Given the description of an element on the screen output the (x, y) to click on. 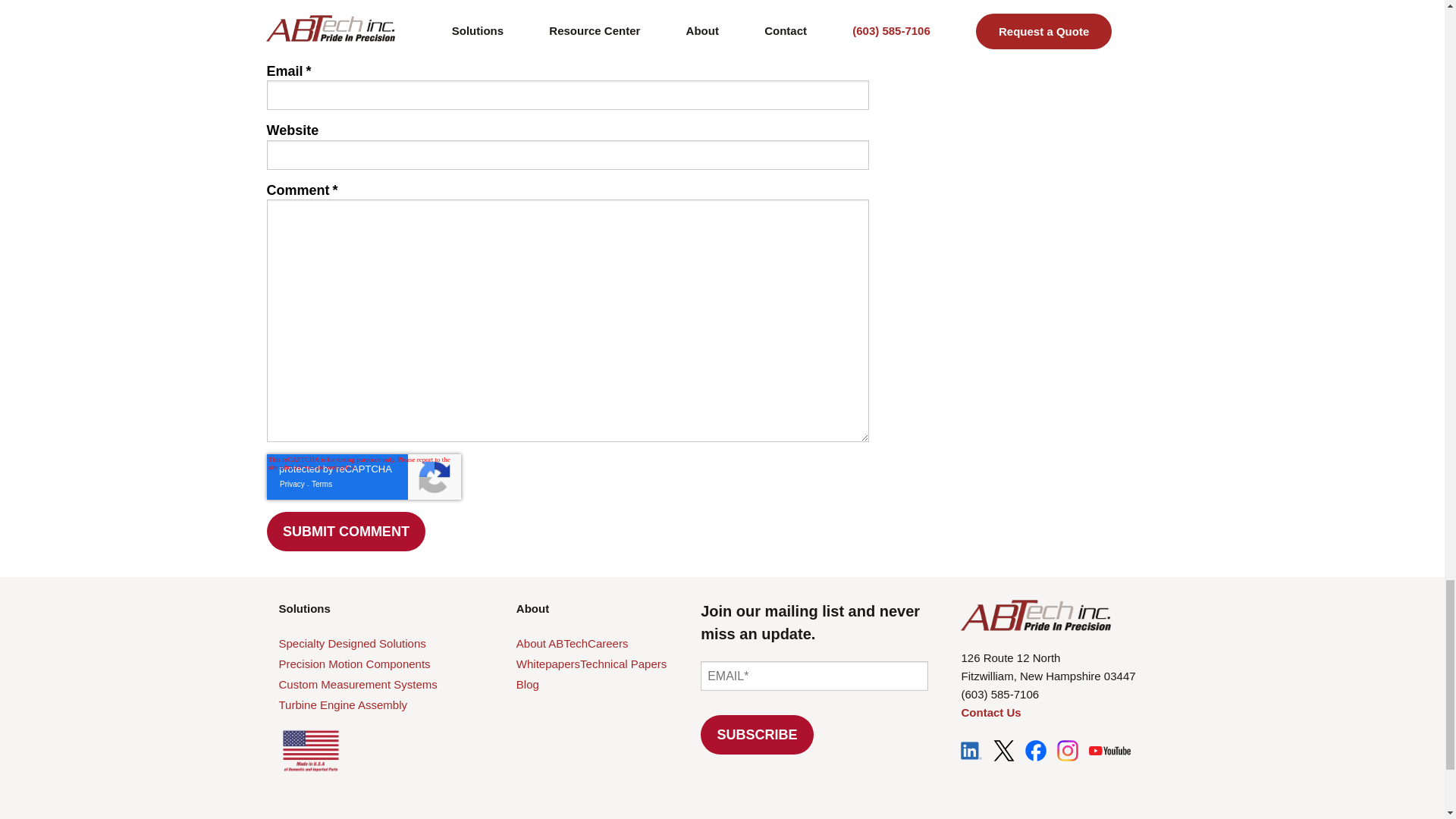
Submit Comment (346, 531)
reCAPTCHA (363, 476)
Subscribe (756, 734)
